Given the description of an element on the screen output the (x, y) to click on. 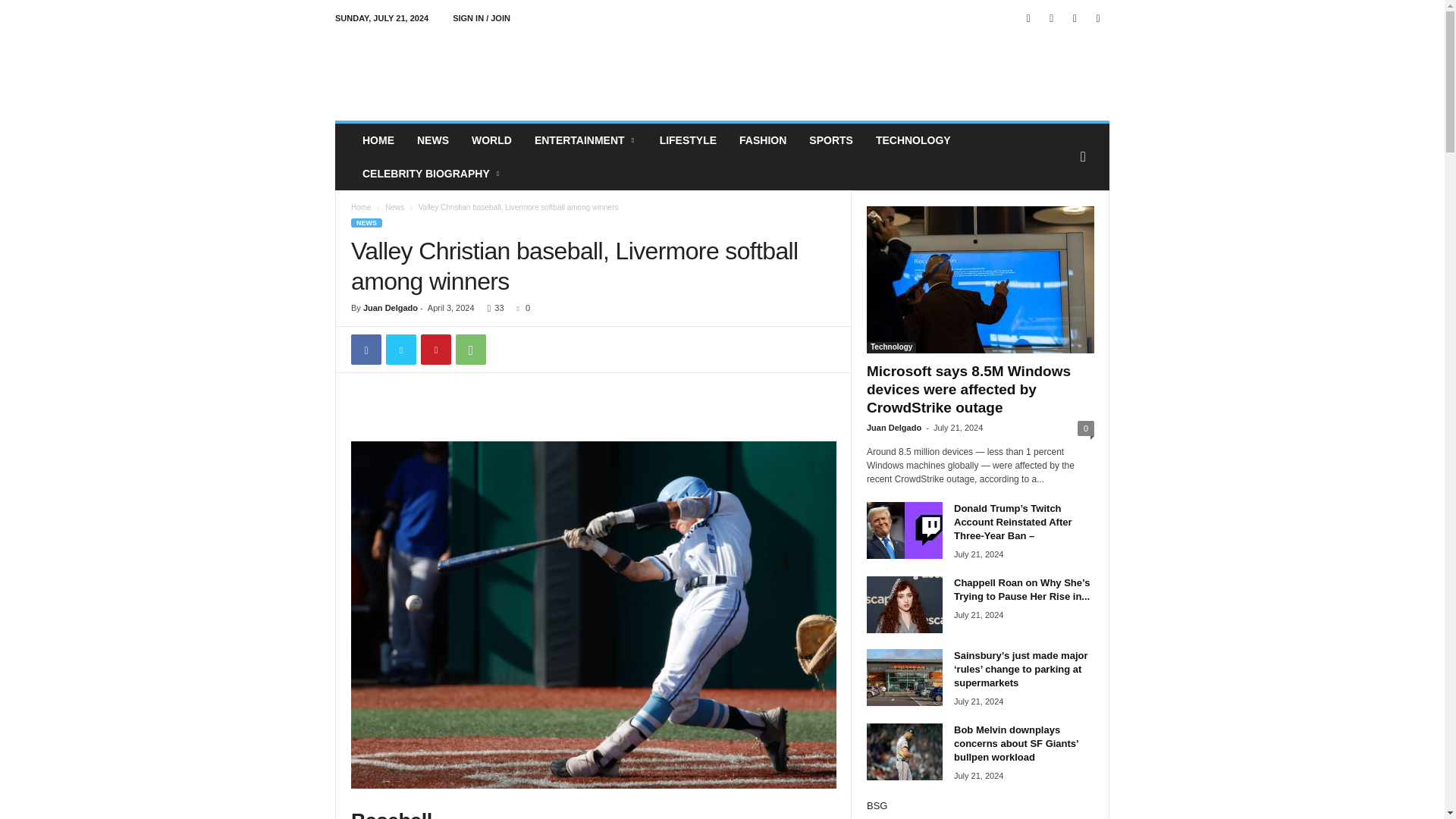
LIFESTYLE (687, 140)
FASHION (762, 140)
View all posts in News (394, 207)
NEWS (433, 140)
HOME (378, 140)
Tribun Kepo (437, 70)
CELEBRITY BIOGRAPHY (431, 173)
Pinterest (435, 349)
SPORTS (830, 140)
WORLD (491, 140)
TECHNOLOGY (913, 140)
Facebook (365, 349)
ENTERTAINMENT (584, 140)
WhatsApp (470, 349)
